Given the description of an element on the screen output the (x, y) to click on. 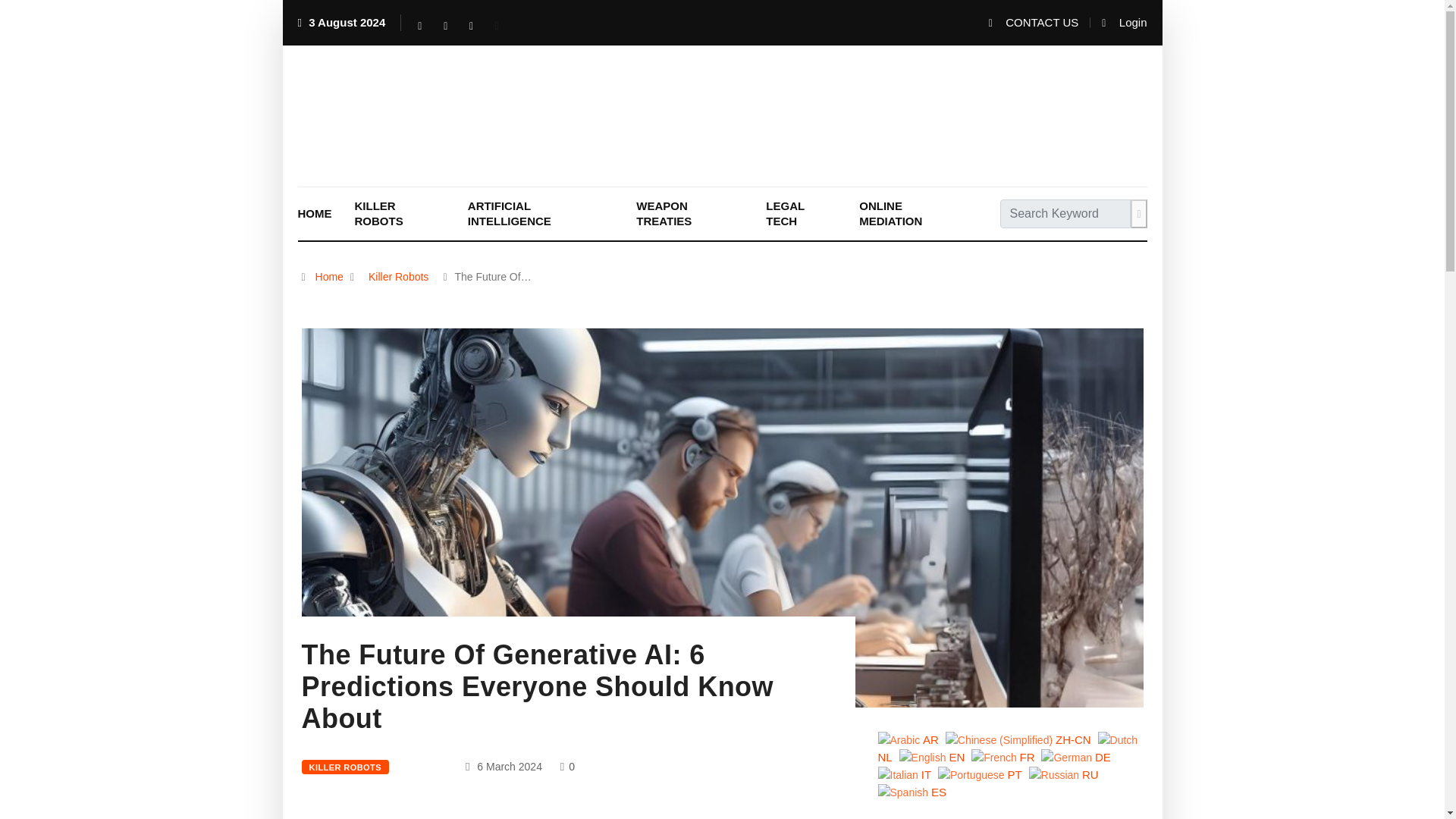
PT (981, 774)
LEGAL TECH (800, 213)
ONLINE MEDIATION (911, 213)
CONTACT US (1033, 22)
KILLER ROBOTS (345, 766)
ARTIFICIAL INTELLIGENCE (540, 213)
WEAPON TREATIES (689, 213)
Killer Robots (398, 276)
ES (913, 791)
Home (329, 276)
Dutch (1007, 747)
FR (1004, 756)
Russian (1065, 774)
IT (906, 774)
EN (934, 756)
